Given the description of an element on the screen output the (x, y) to click on. 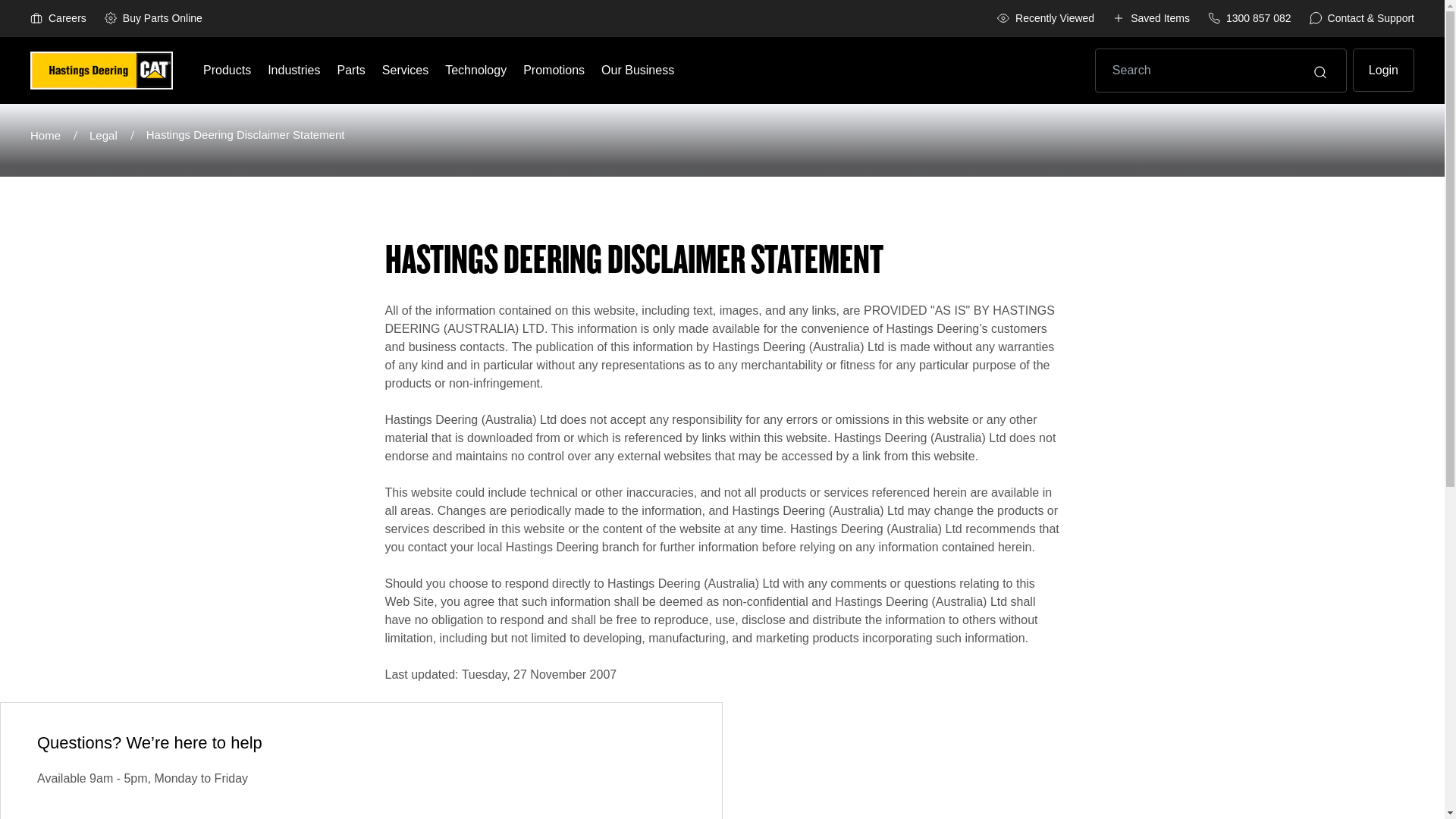
Our Business Element type: text (637, 69)
Industries Element type: text (293, 69)
Login Element type: text (1383, 69)
Parts Element type: text (351, 69)
Legal Element type: text (117, 135)
Login Element type: text (1383, 69)
Services Element type: text (405, 69)
Hastings Deering Disclaimer Statement Element type: text (249, 134)
Promotions Element type: text (553, 69)
Technology Element type: text (475, 69)
Home Element type: text (59, 135)
Products Element type: text (227, 69)
